Given the description of an element on the screen output the (x, y) to click on. 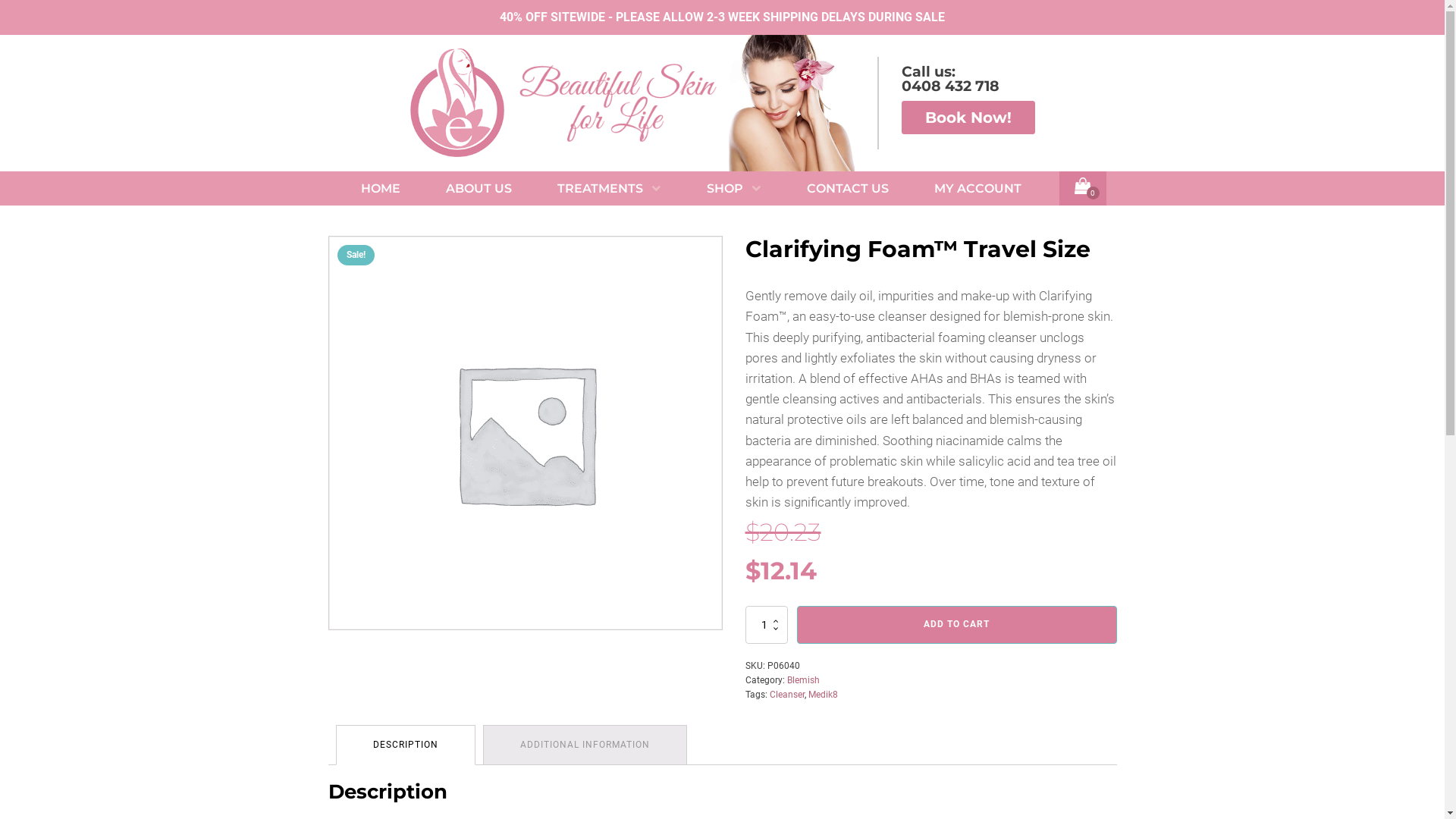
DESCRIPTION Element type: text (405, 744)
Book Now! Element type: text (967, 117)
MY ACCOUNT Element type: text (977, 188)
ADDITIONAL INFORMATION Element type: text (584, 744)
0 Element type: text (1082, 188)
ABOUT US Element type: text (478, 188)
CONTACT US Element type: text (847, 188)
SHOP Element type: text (734, 188)
Blemish Element type: text (803, 679)
HOME Element type: text (380, 188)
ADD TO CART Element type: text (956, 624)
Qty Element type: hover (765, 624)
Cleanser Element type: text (785, 694)
Medik8 Element type: text (822, 694)
TREATMENTS Element type: text (609, 188)
